Given the description of an element on the screen output the (x, y) to click on. 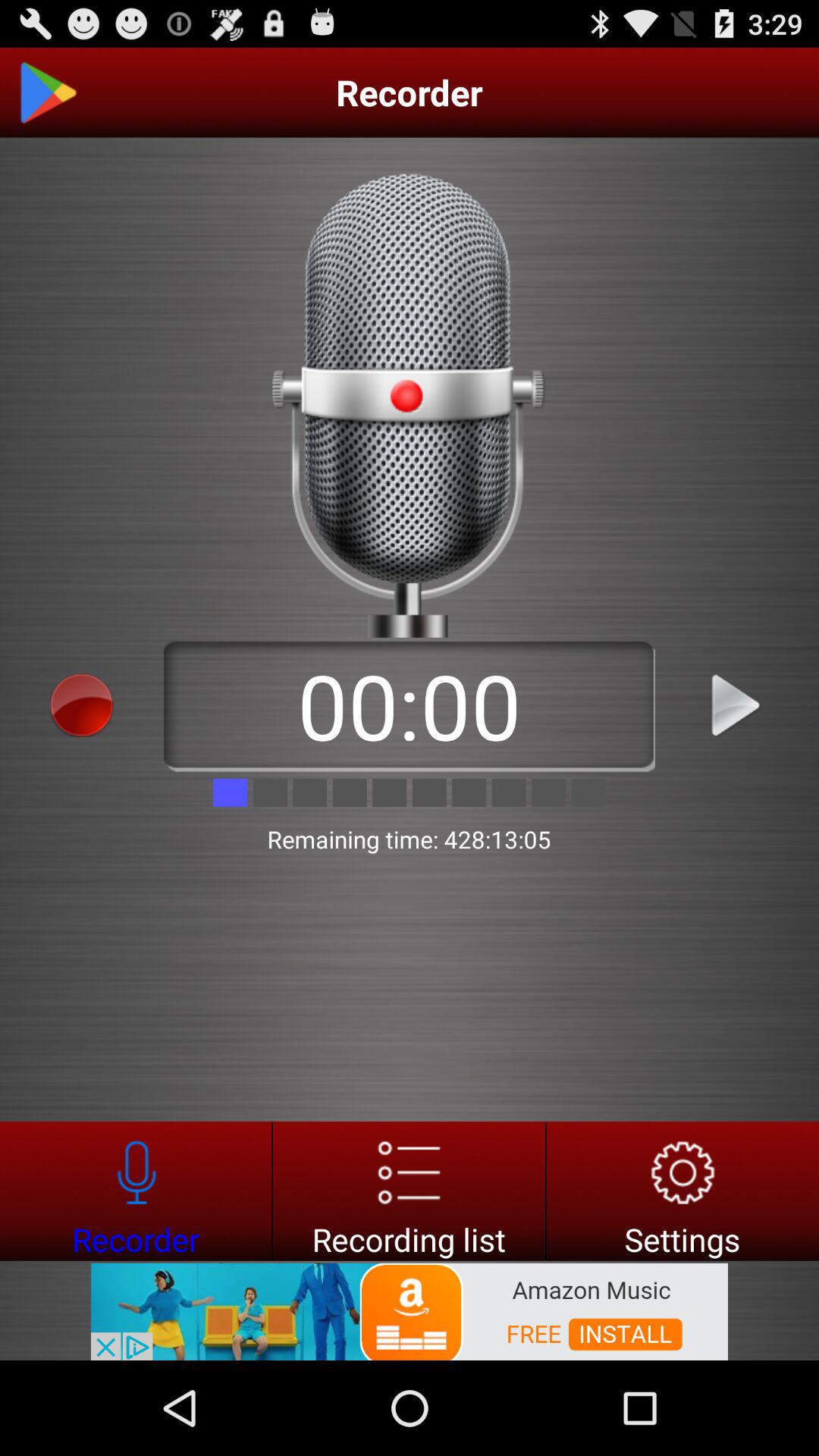
recording list option (409, 1190)
